Given the description of an element on the screen output the (x, y) to click on. 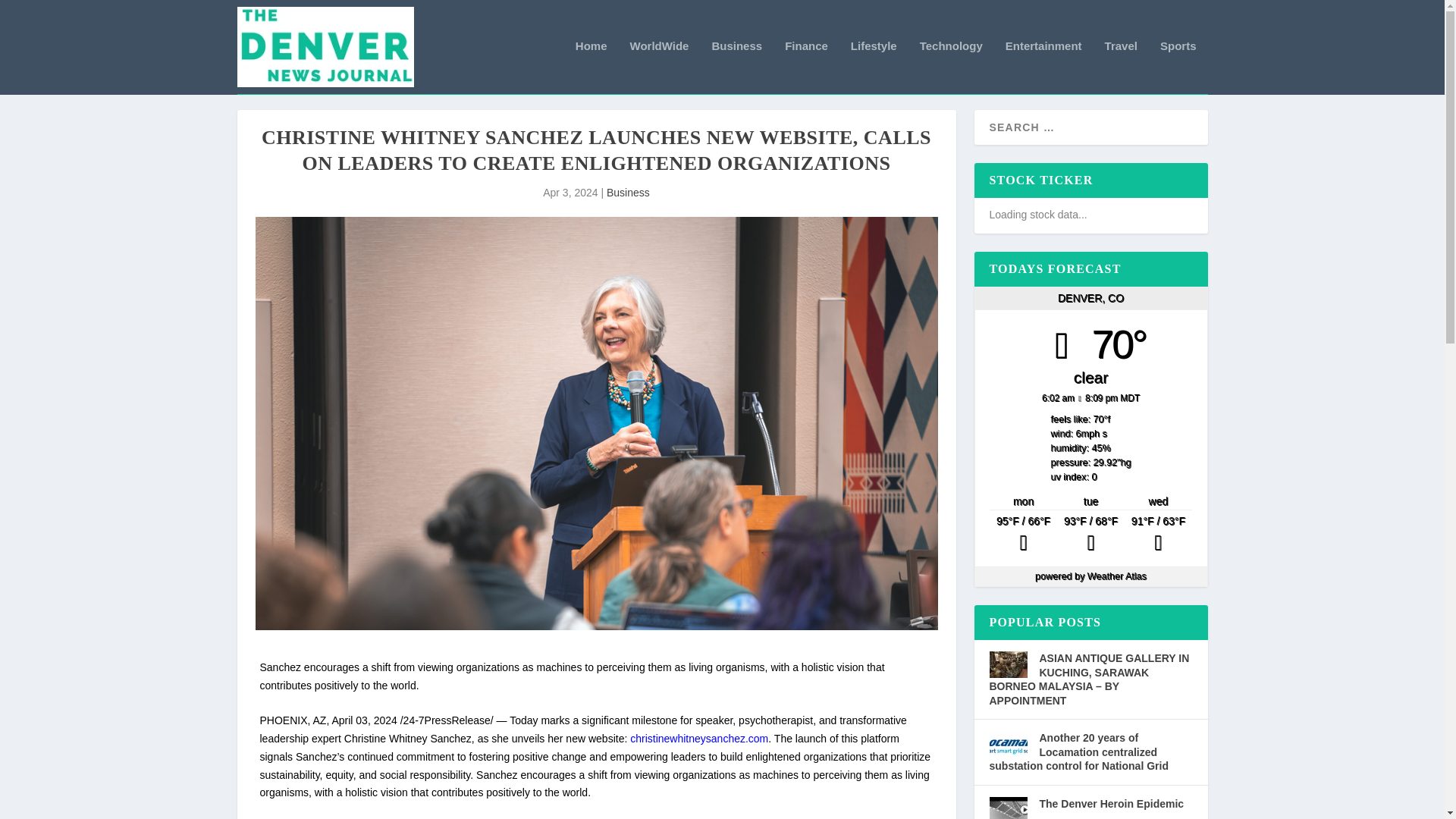
Isolated Thunderstorms (1158, 534)
PM Thunderstorms (1023, 534)
christinewhitneysanchez.com (699, 738)
Business (628, 192)
WorldWide (659, 67)
Mostly Sunny (1090, 534)
Business (736, 67)
Entertainment (1043, 67)
Technology (951, 67)
